Given the description of an element on the screen output the (x, y) to click on. 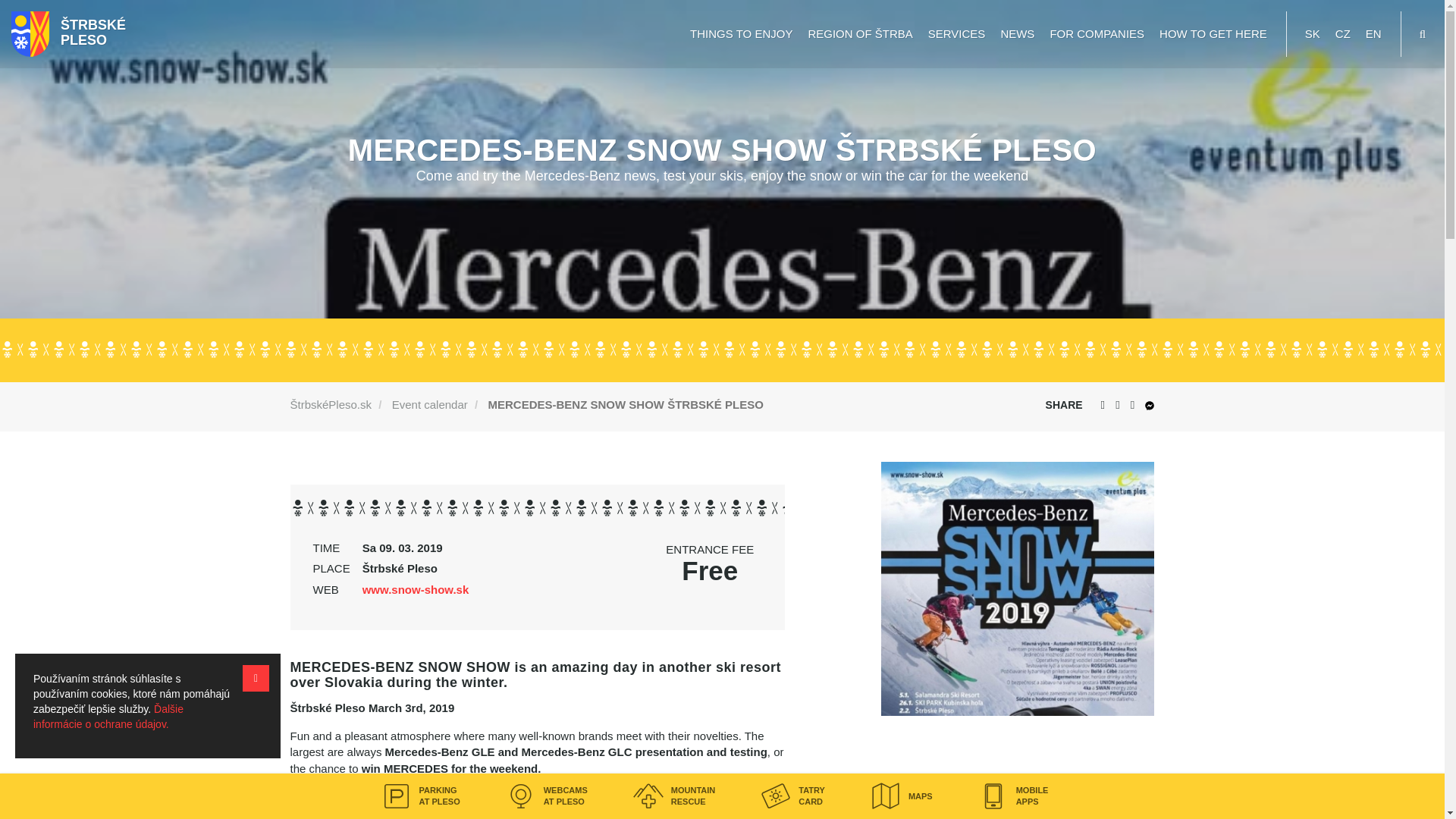
THINGS TO ENJOY (740, 33)
Event calendar (429, 404)
SERVICES (956, 33)
Event calendar (429, 404)
FOR COMPANIES (1096, 33)
HOW TO GET HERE (1213, 33)
www.snow-show.sk (415, 589)
